Given the description of an element on the screen output the (x, y) to click on. 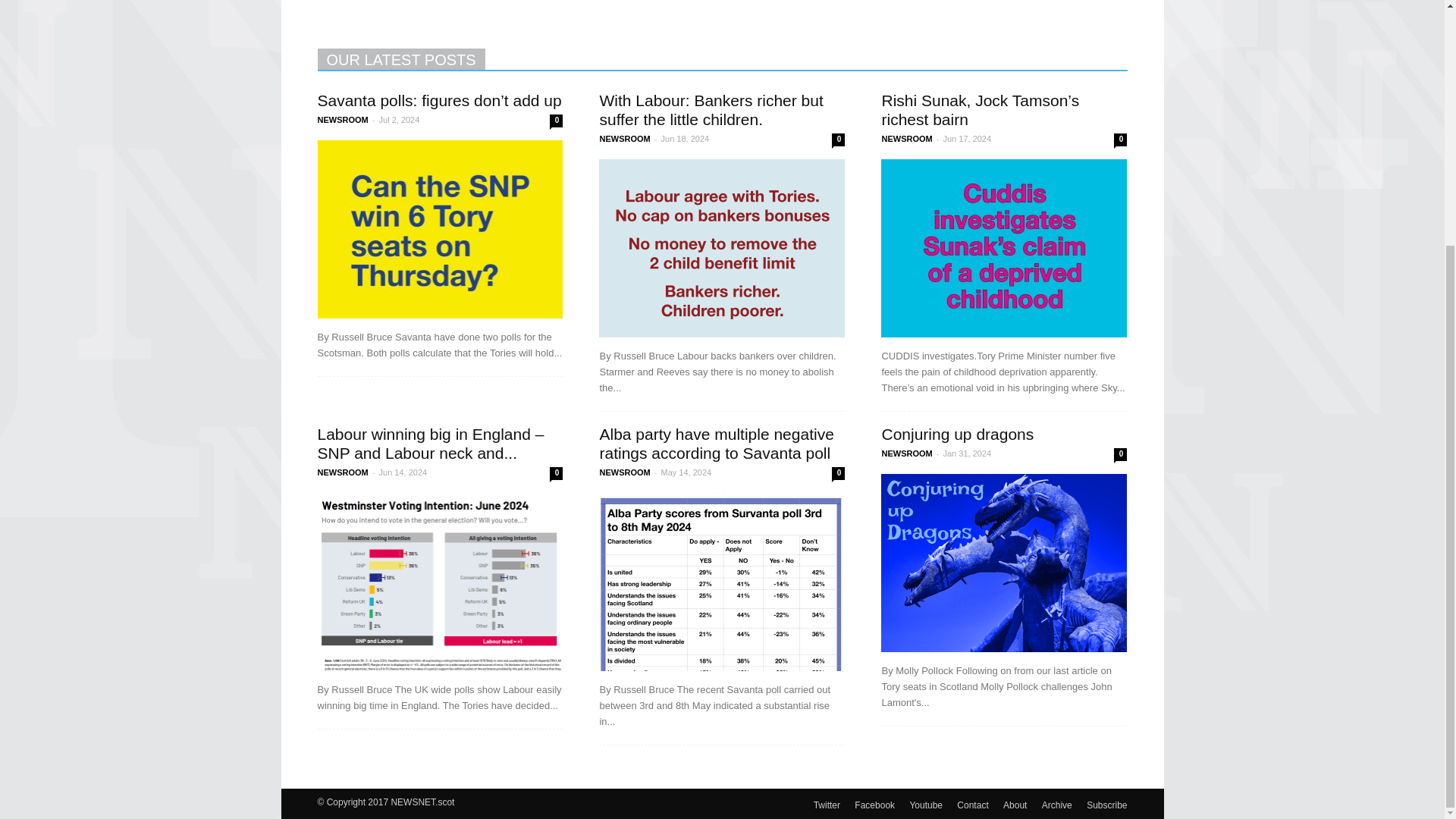
With Labour: Bankers richer but suffer the little children. (710, 109)
With Labour:  Bankers richer but suffer the little children. (721, 247)
NEWSROOM (342, 119)
0 (556, 120)
0 (837, 139)
NEWSROOM (623, 138)
0 (1119, 139)
With Labour:  Bankers richer but suffer the little children. (710, 109)
NEWSROOM (905, 138)
